Given the description of an element on the screen output the (x, y) to click on. 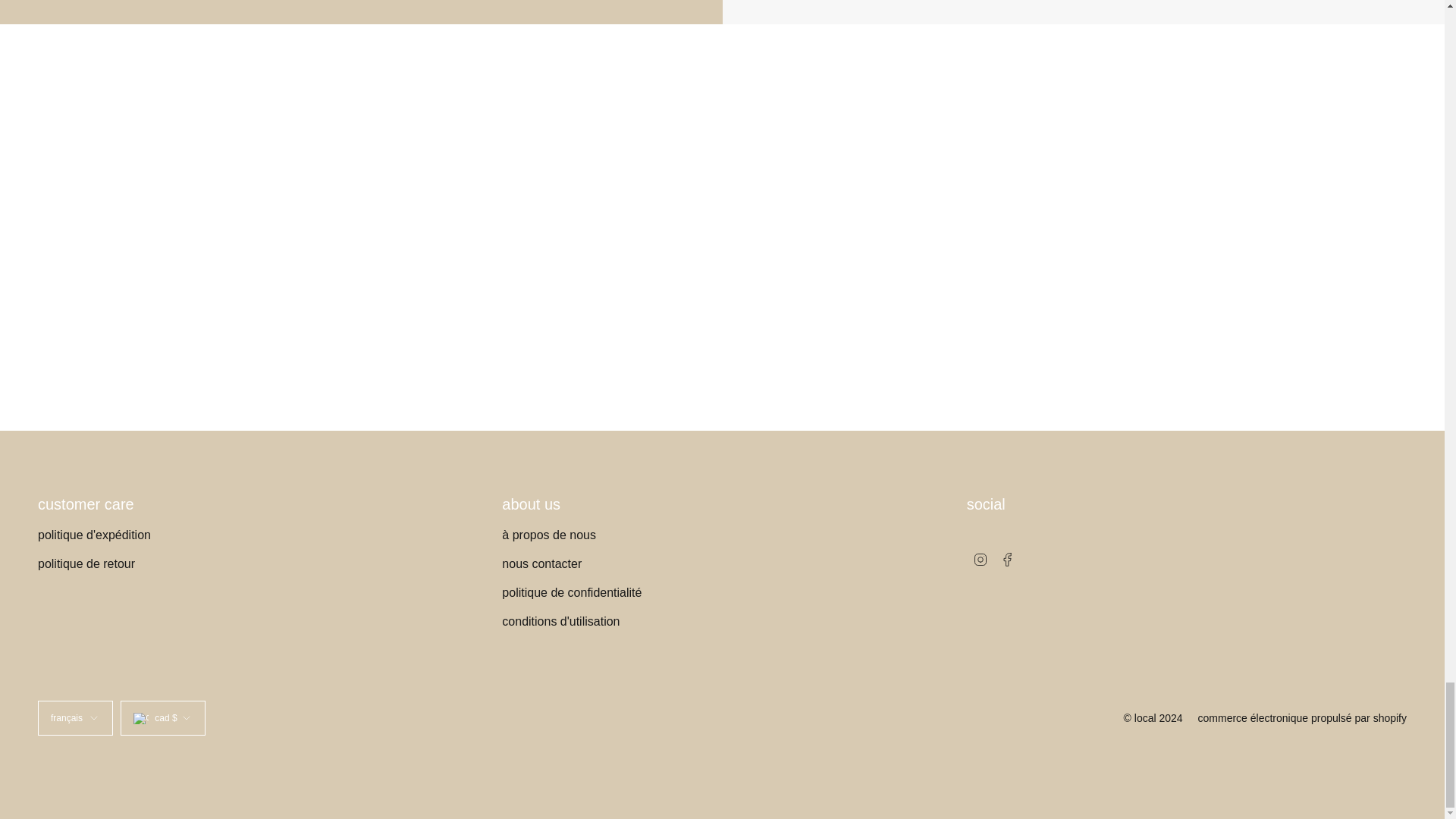
local sur Instagram (980, 558)
local sur Facebook (1007, 558)
